Given the description of an element on the screen output the (x, y) to click on. 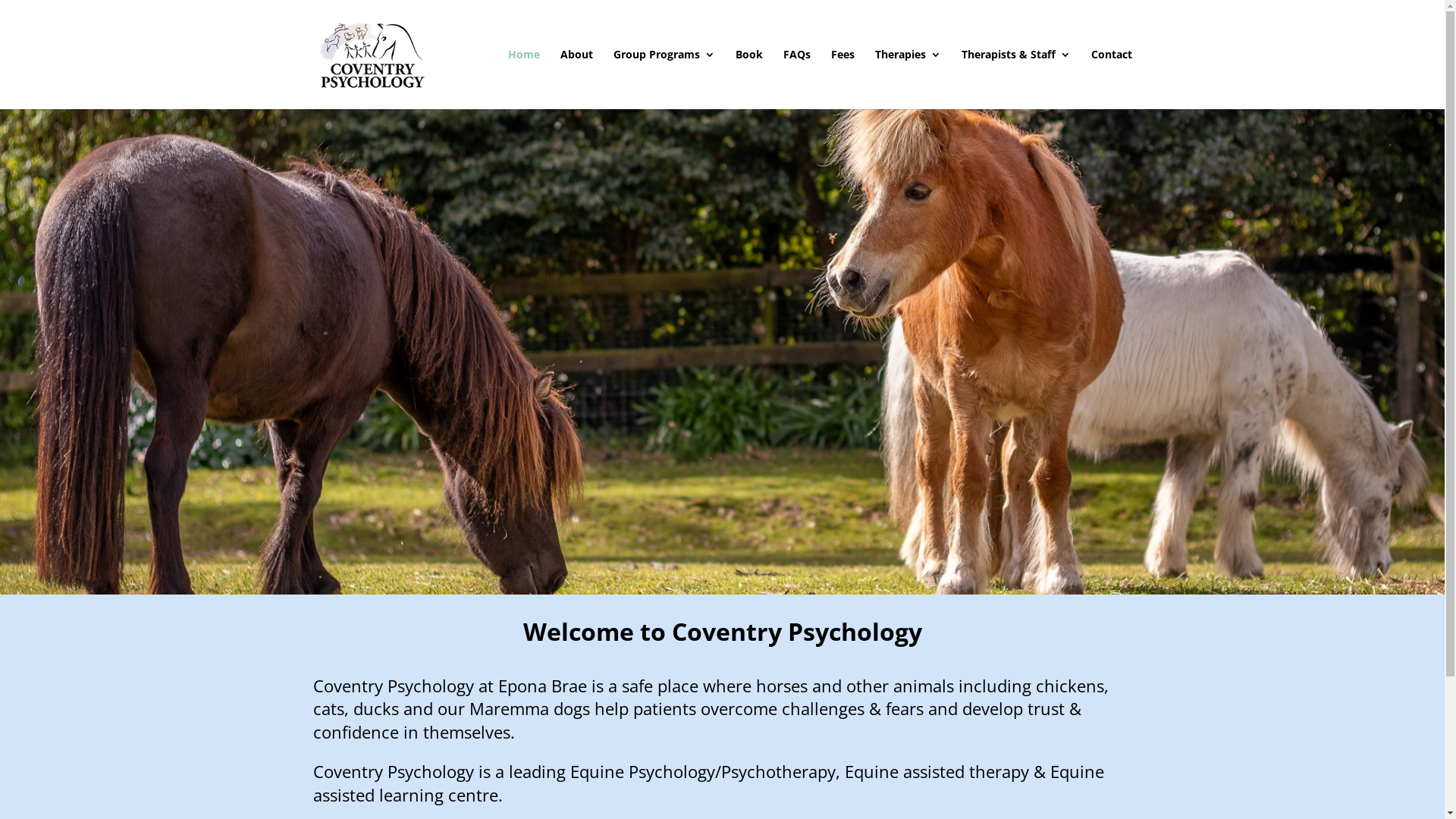
Therapies Element type: text (908, 79)
Contact Element type: text (1110, 79)
Book Element type: text (748, 79)
Group Programs Element type: text (663, 79)
Therapists & Staff Element type: text (1015, 79)
FAQs Element type: text (795, 79)
About Element type: text (575, 79)
Home Element type: text (523, 79)
Fees Element type: text (842, 79)
